Given the description of an element on the screen output the (x, y) to click on. 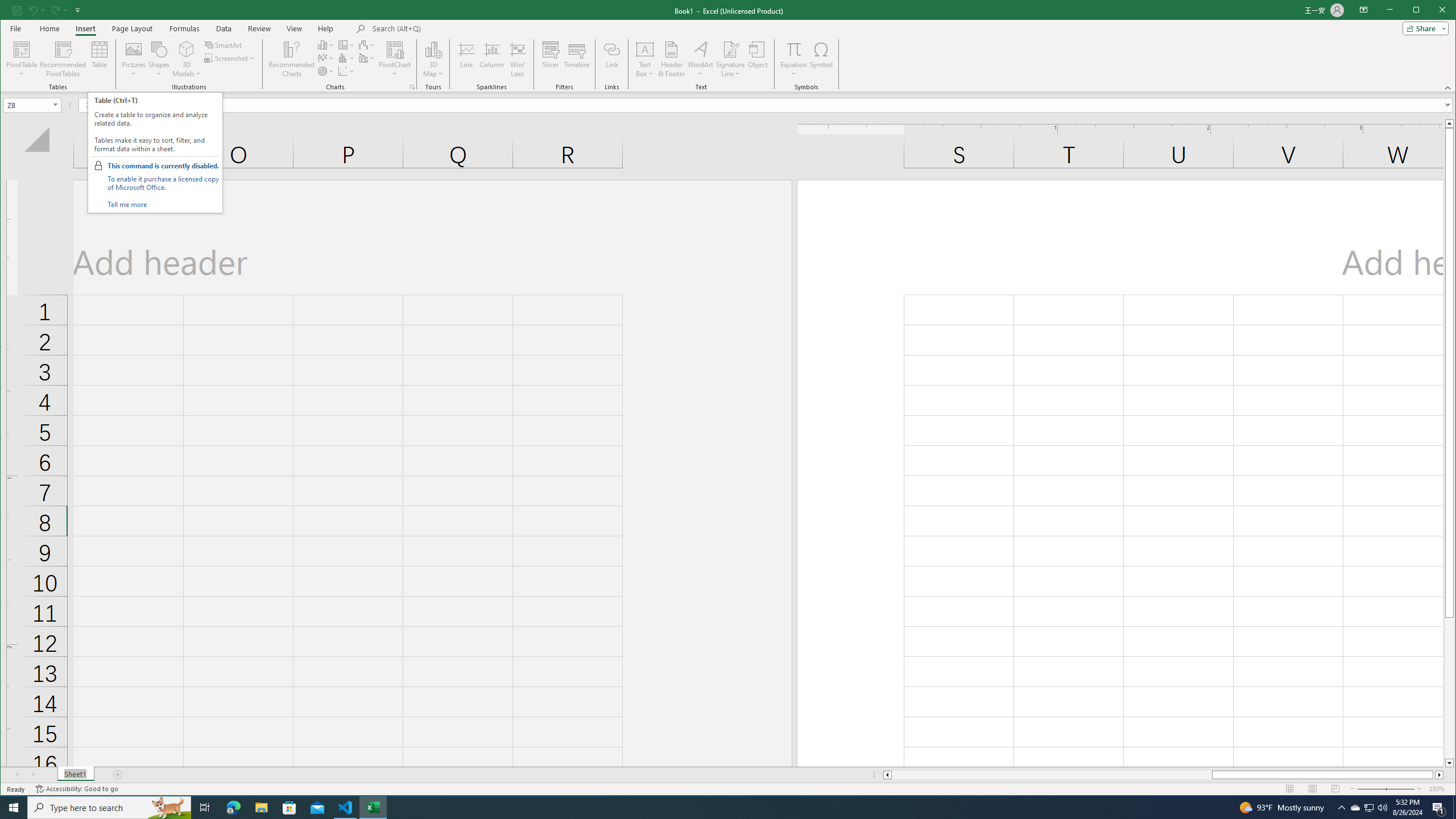
Win/Loss (517, 59)
Equation (793, 59)
Task View (204, 807)
Maximize (1432, 11)
Insert Line or Area Chart (325, 57)
Type here to search (108, 807)
WordArt (699, 59)
3D Map (432, 59)
